Given the description of an element on the screen output the (x, y) to click on. 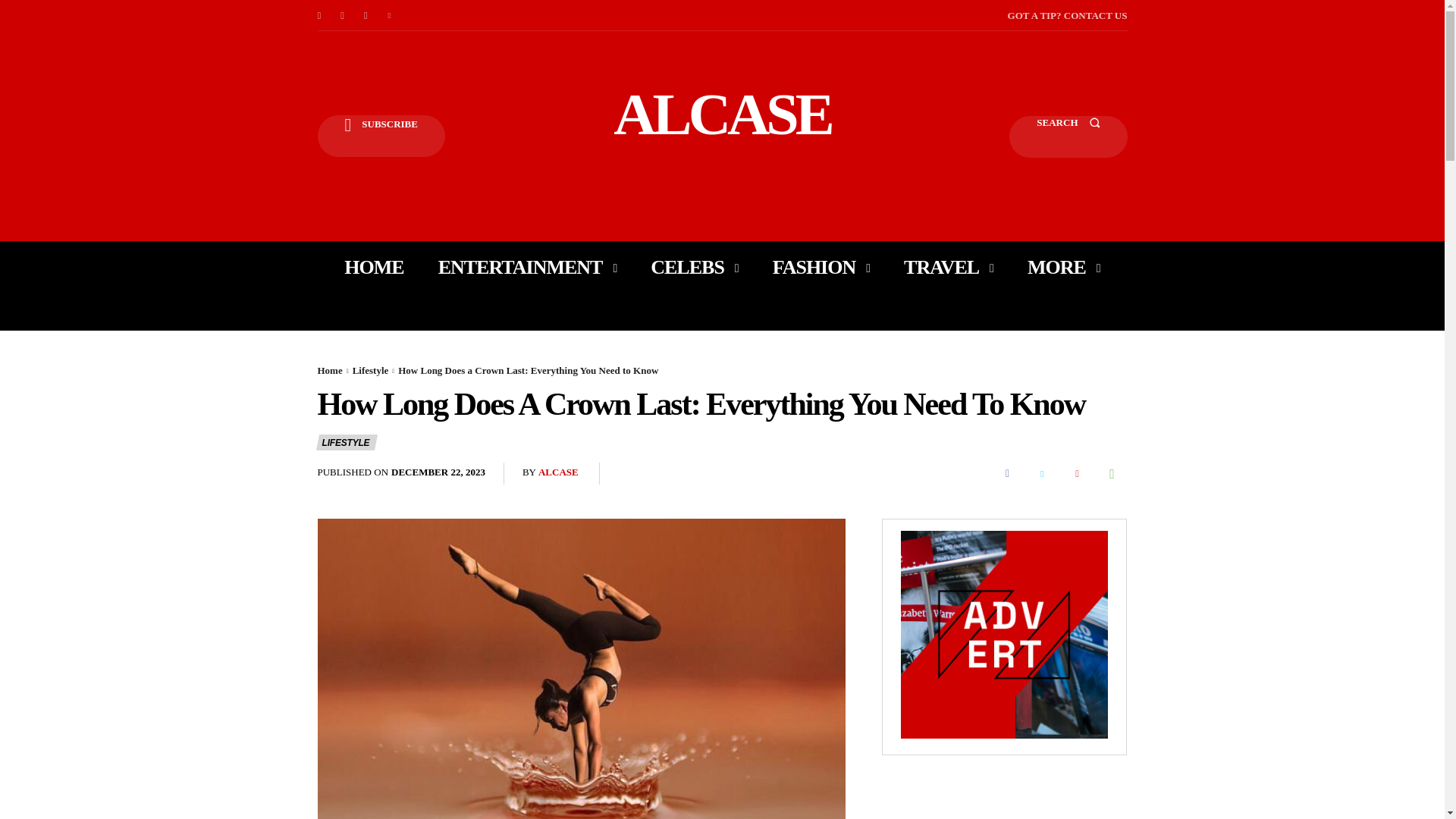
Instagram (342, 15)
GOT A TIP? CONTACT US (1066, 15)
ALCASE (722, 113)
Twitter (389, 15)
SEARCH (1067, 137)
Facebook (318, 15)
TikTok (366, 15)
SUBSCRIBE (380, 136)
